Given the description of an element on the screen output the (x, y) to click on. 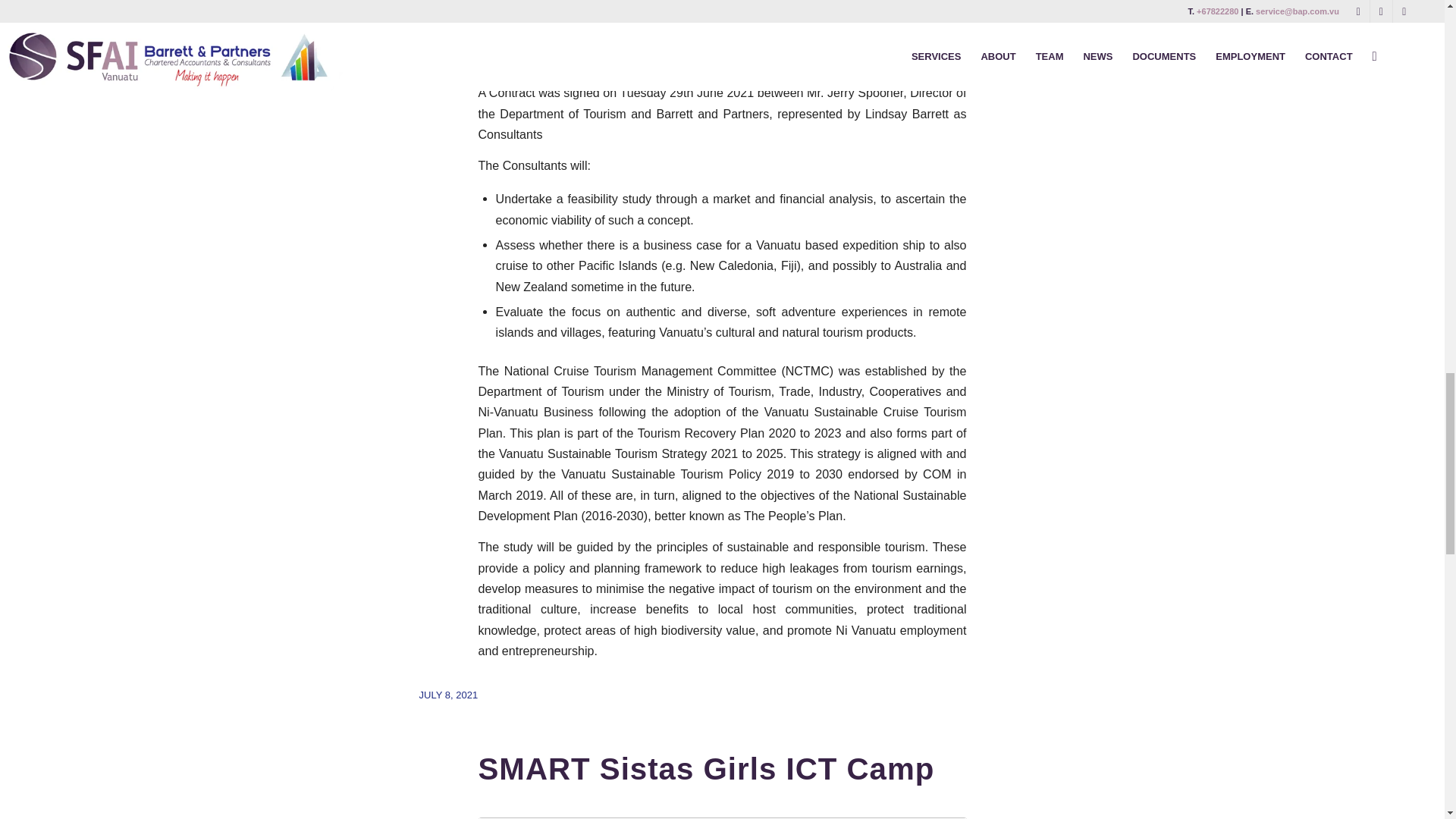
Permanent Link: SMART Sistas Girls ICT Camp (705, 769)
SMART Sistas Girls ICT Camp (705, 769)
